Given the description of an element on the screen output the (x, y) to click on. 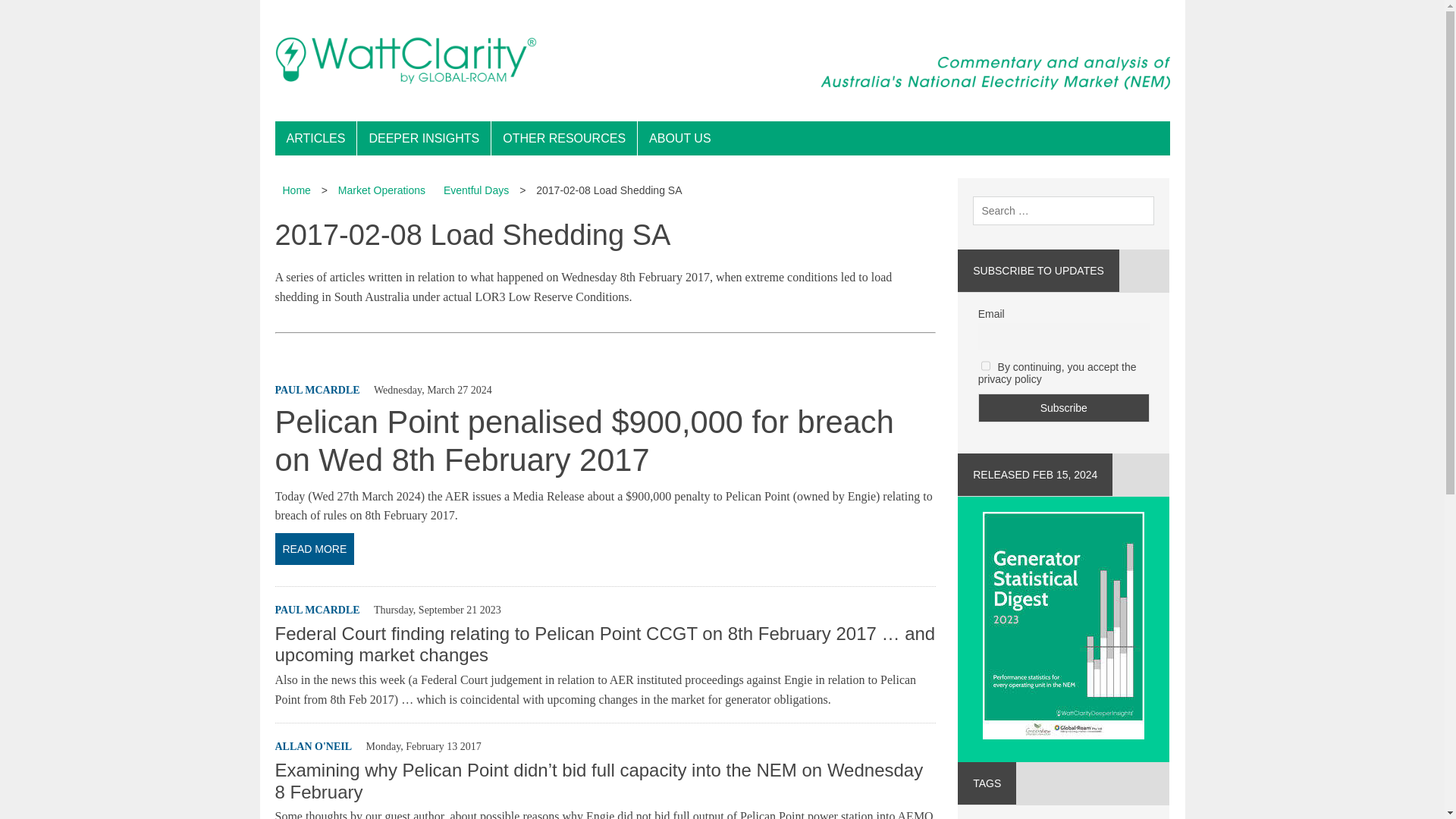
WattClarity (722, 60)
Market Operations (381, 190)
DEEPER INSIGHTS (423, 138)
Home (296, 190)
PAUL MCARDLE (317, 609)
ABOUT US (679, 138)
READ MORE (604, 548)
Subscribe (1064, 407)
Eventful Days (475, 190)
OTHER RESOURCES (564, 138)
ARTICLES (315, 138)
on (985, 366)
PAUL MCARDLE (317, 389)
